Given the description of an element on the screen output the (x, y) to click on. 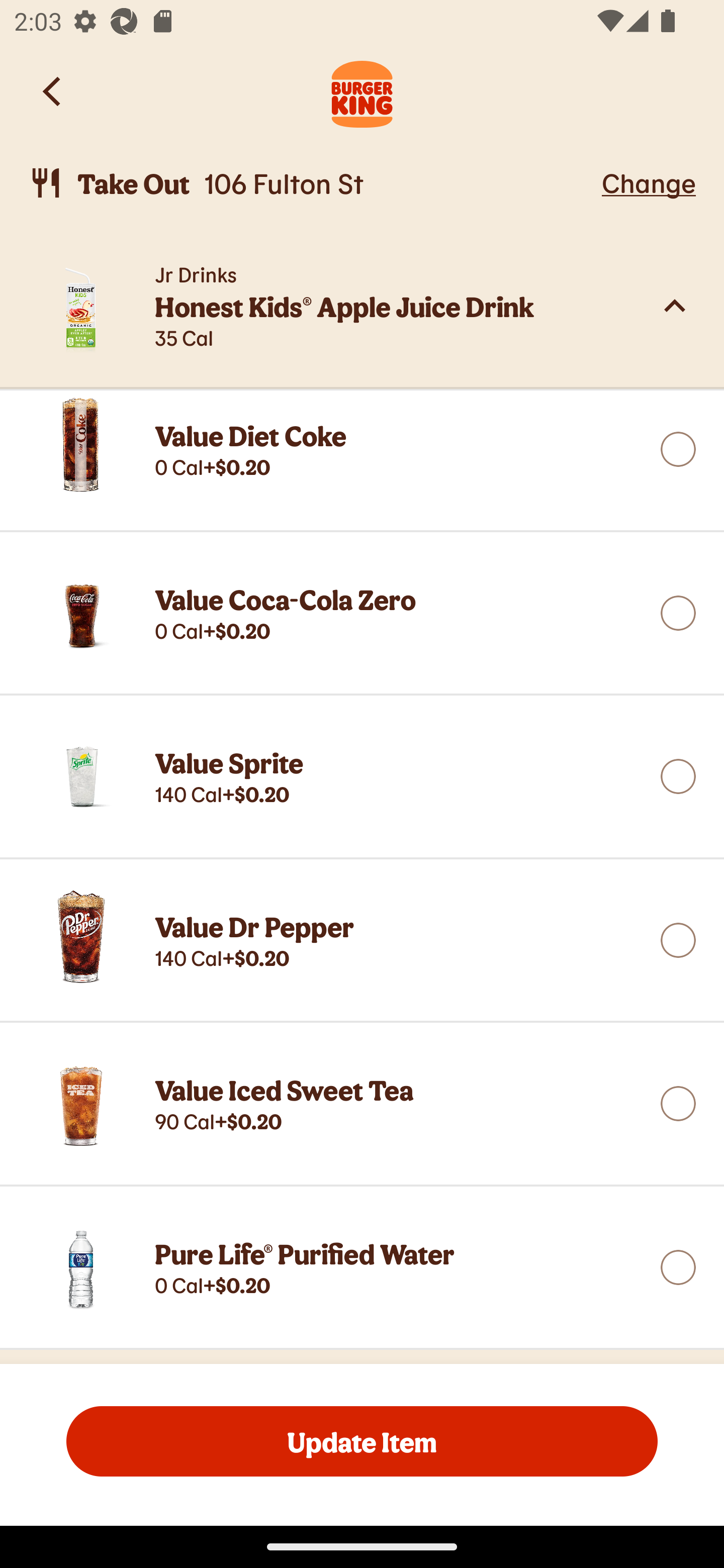
Burger King Logo. Navigate to Home (362, 91)
Back (52, 91)
Take Out, 106 Fulton St  Take Out 106 Fulton St (311, 183)
Change (648, 182)
Update Item (361, 1441)
